Given the description of an element on the screen output the (x, y) to click on. 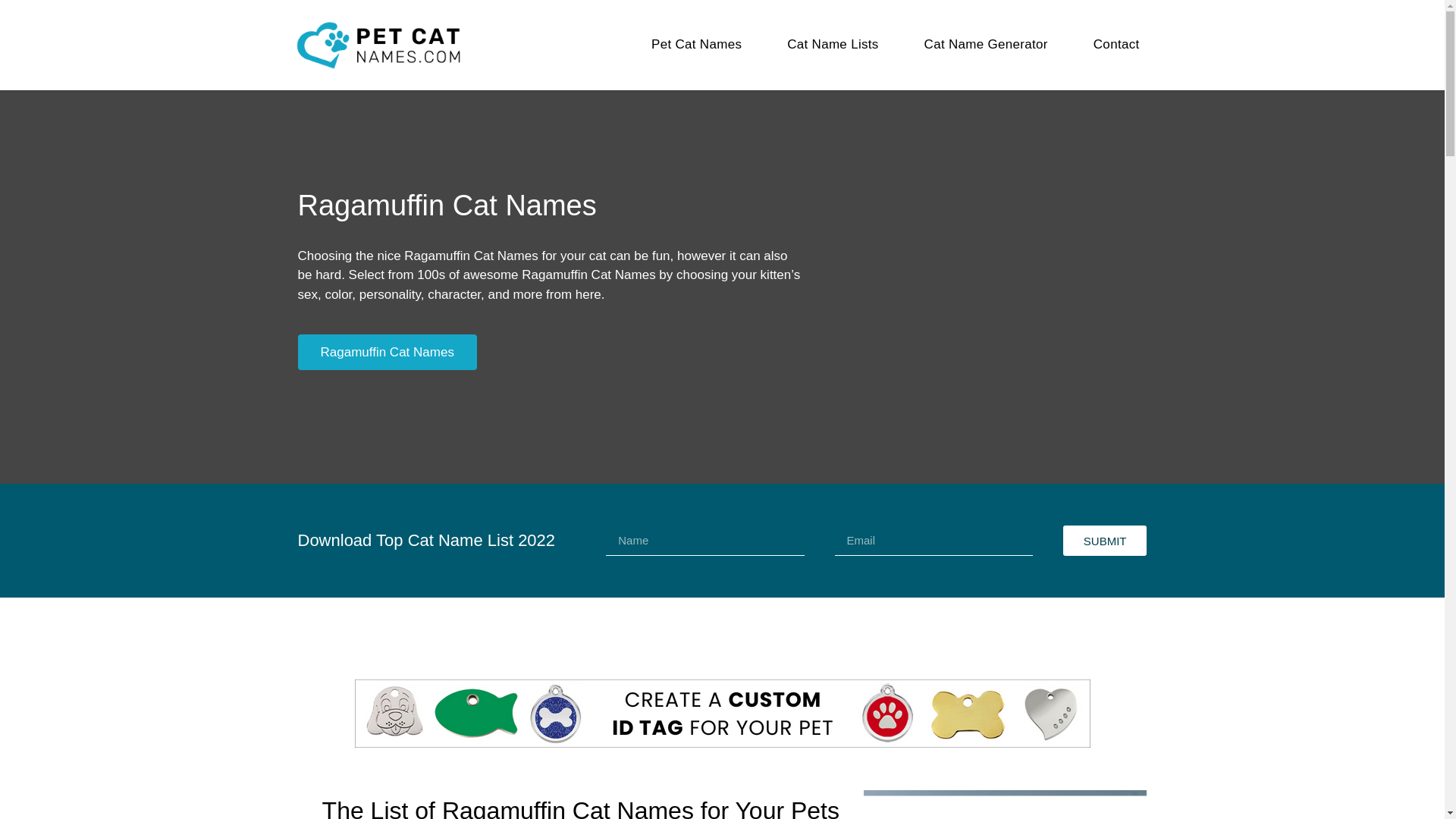
SUBMIT (1104, 540)
Ragamuffin Cat Names (386, 352)
Cat Name Lists (832, 44)
Contact (1116, 44)
Pet Cat Names (696, 44)
Cat Name Generator (985, 44)
